Given the description of an element on the screen output the (x, y) to click on. 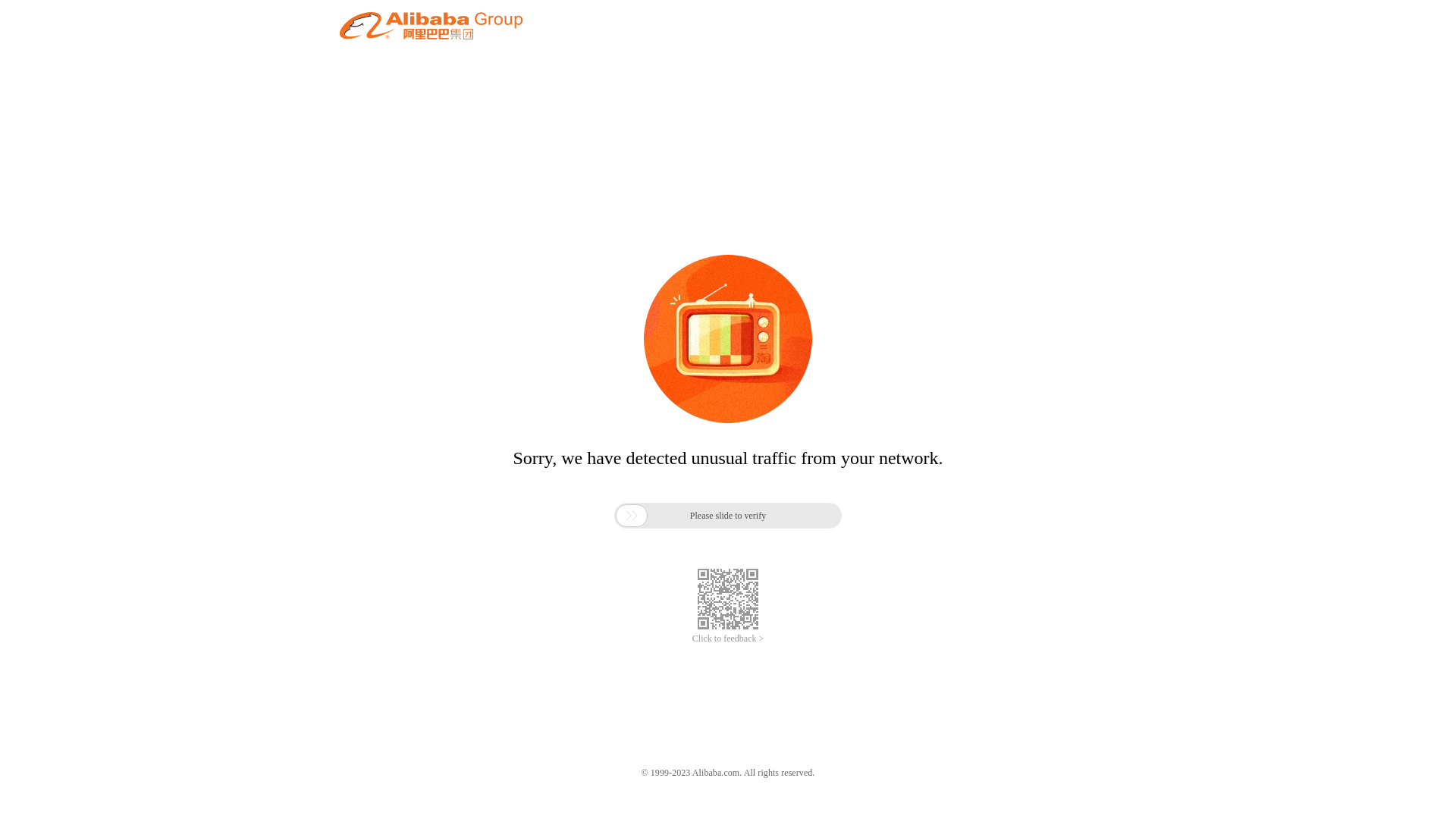
Click to feedback > Element type: text (727, 638)
